Given the description of an element on the screen output the (x, y) to click on. 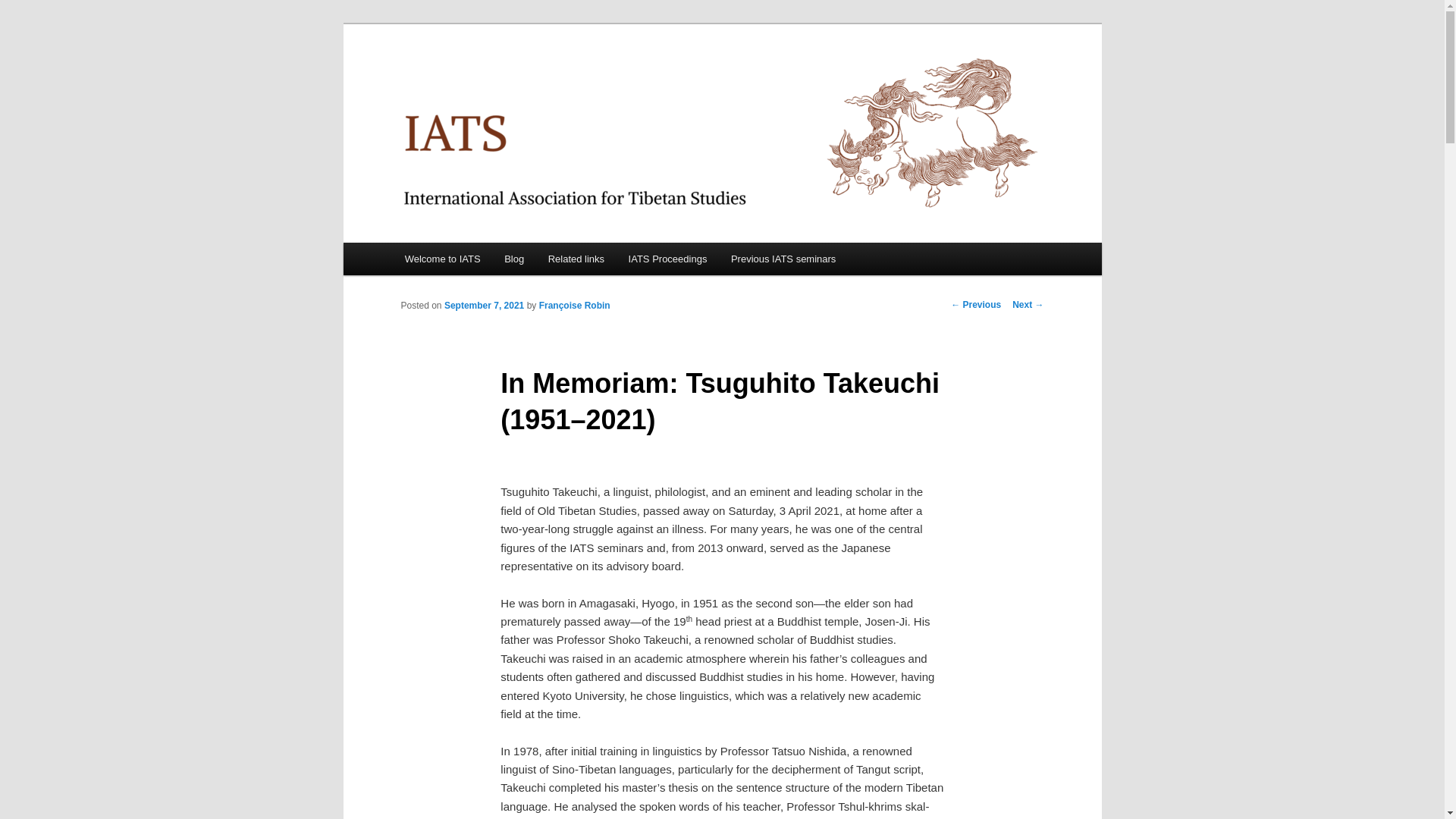
Blog (513, 258)
Related links (575, 258)
IATS (424, 78)
September 7, 2021 (484, 305)
Welcome to IATS (442, 258)
IATS Proceedings (667, 258)
Previous IATS seminars (783, 258)
19:26 (484, 305)
